Given the description of an element on the screen output the (x, y) to click on. 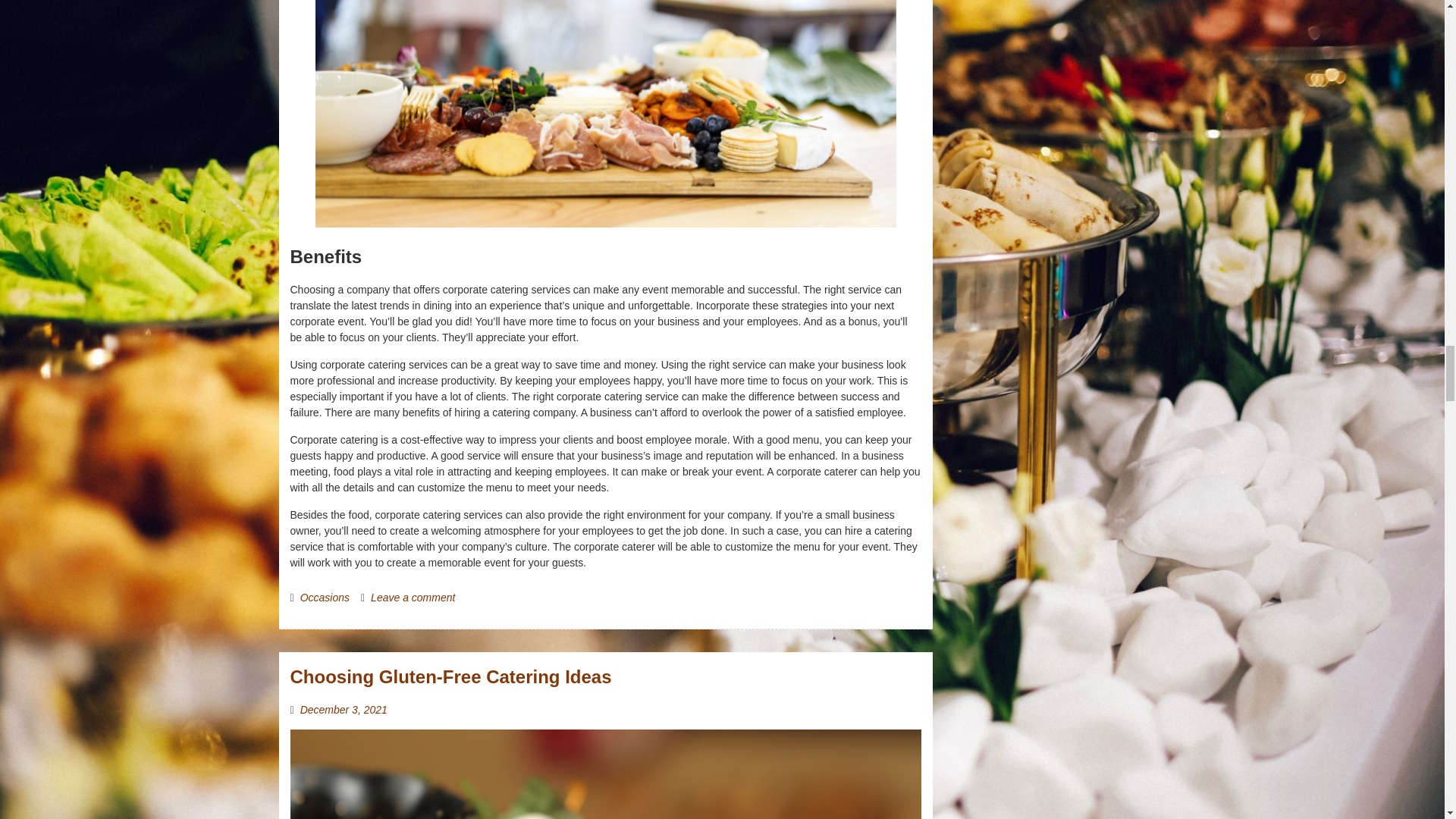
Choosing Gluten-Free Catering Ideas (450, 676)
December 3, 2021 (343, 709)
Leave a comment (412, 597)
Occasions (324, 597)
